Given the description of an element on the screen output the (x, y) to click on. 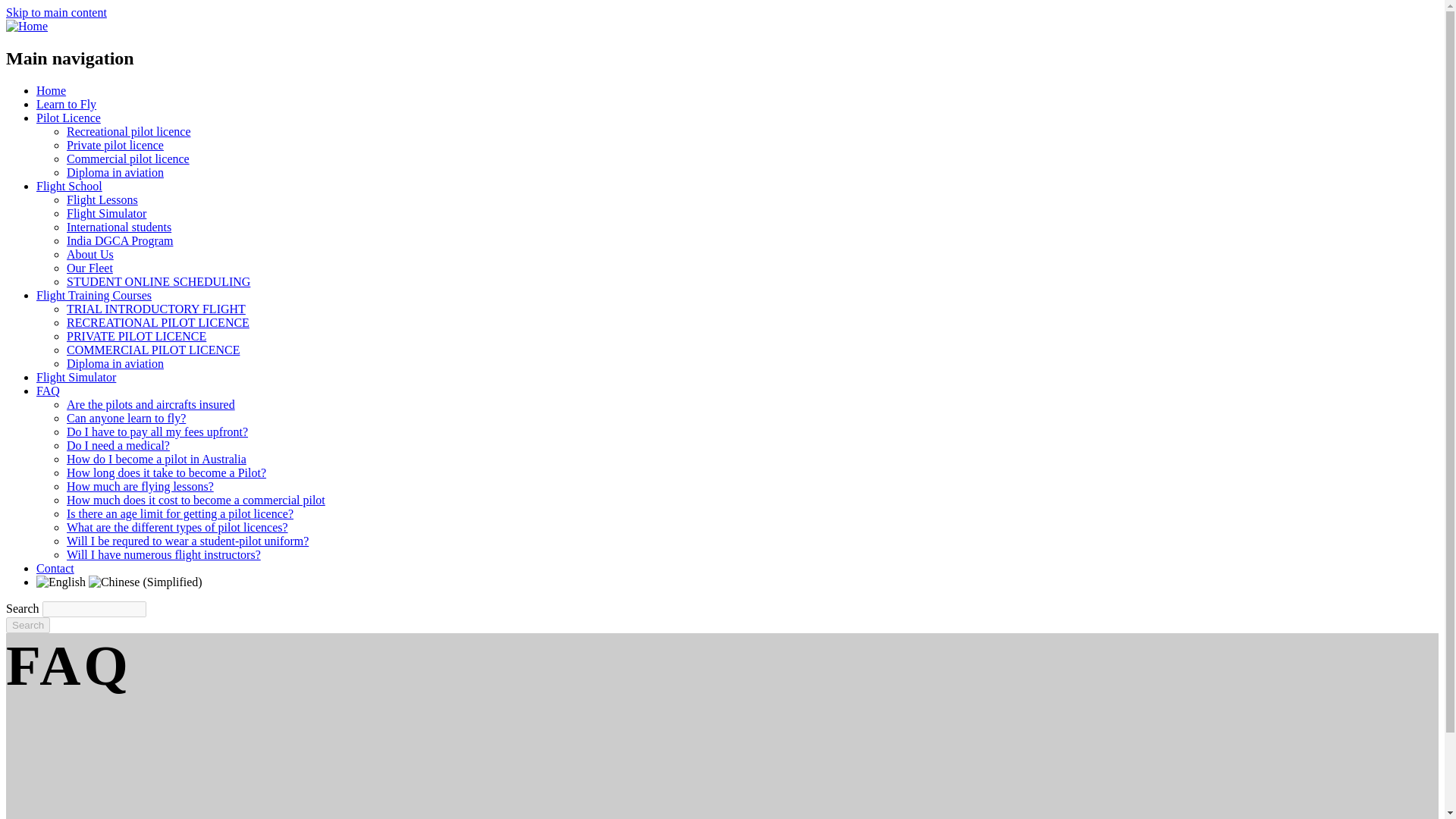
Flight Simulator (76, 377)
Search (27, 625)
Flight Lessons (102, 199)
Enter the terms you wish to search for. (94, 609)
Our Fleet (89, 267)
STUDENT ONLINE SCHEDULING (158, 281)
Contact (55, 567)
Flight Simulator (106, 213)
English (62, 581)
How do I become a pilot in Australia (156, 459)
